Given the description of an element on the screen output the (x, y) to click on. 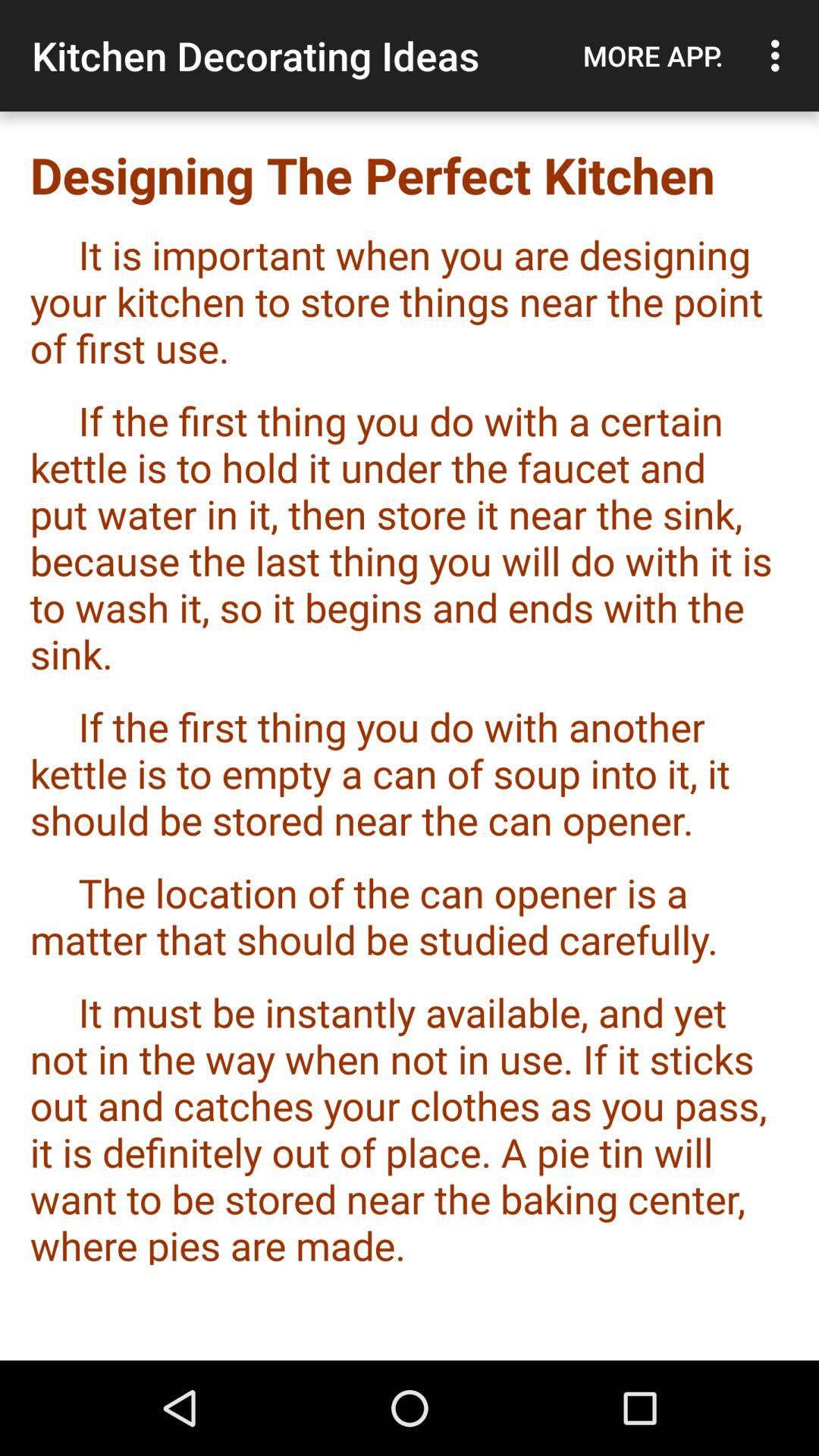
click app above the designing the perfect app (779, 55)
